Given the description of an element on the screen output the (x, y) to click on. 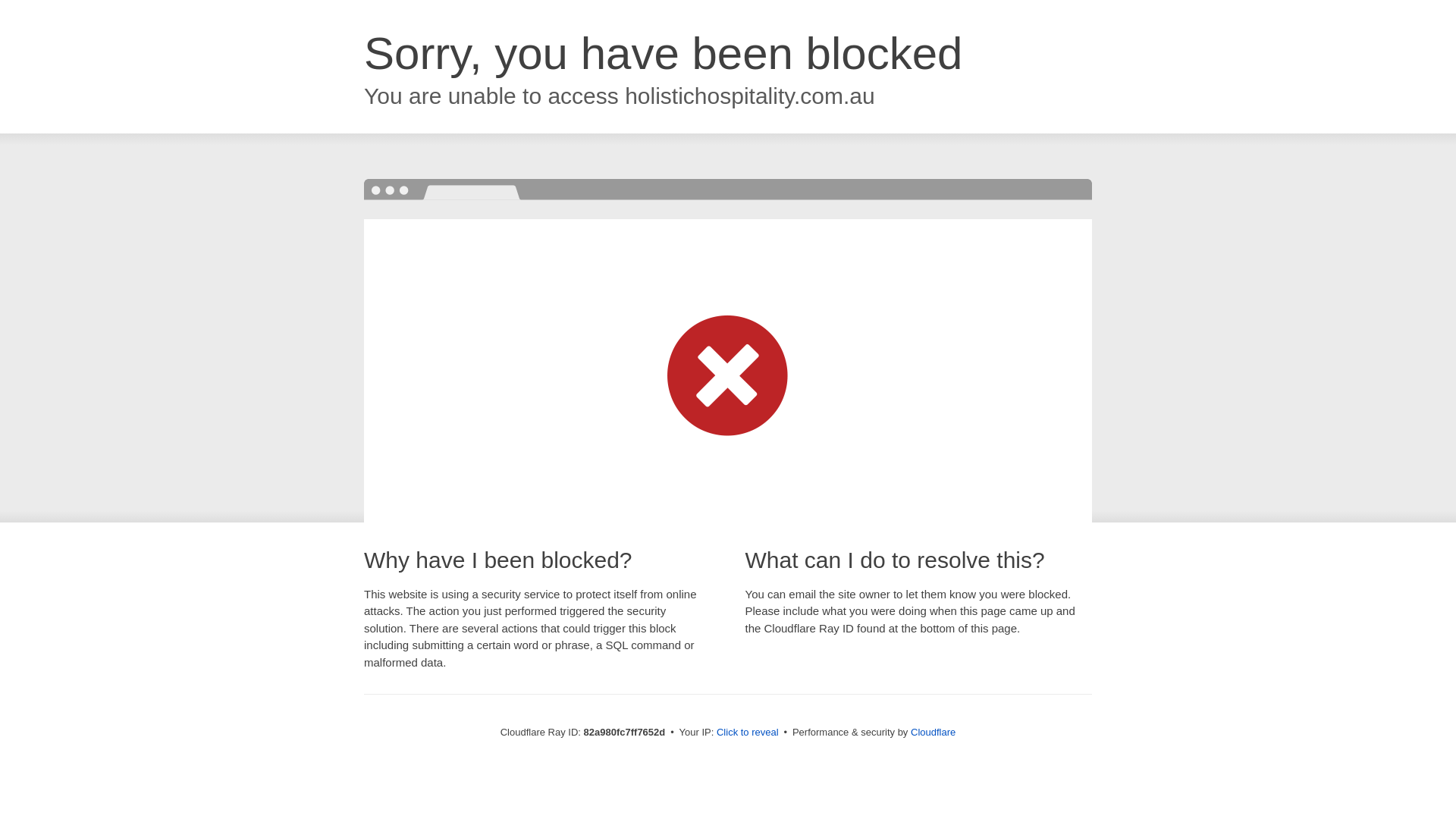
Cloudflare Element type: text (932, 731)
Click to reveal Element type: text (747, 732)
